Given the description of an element on the screen output the (x, y) to click on. 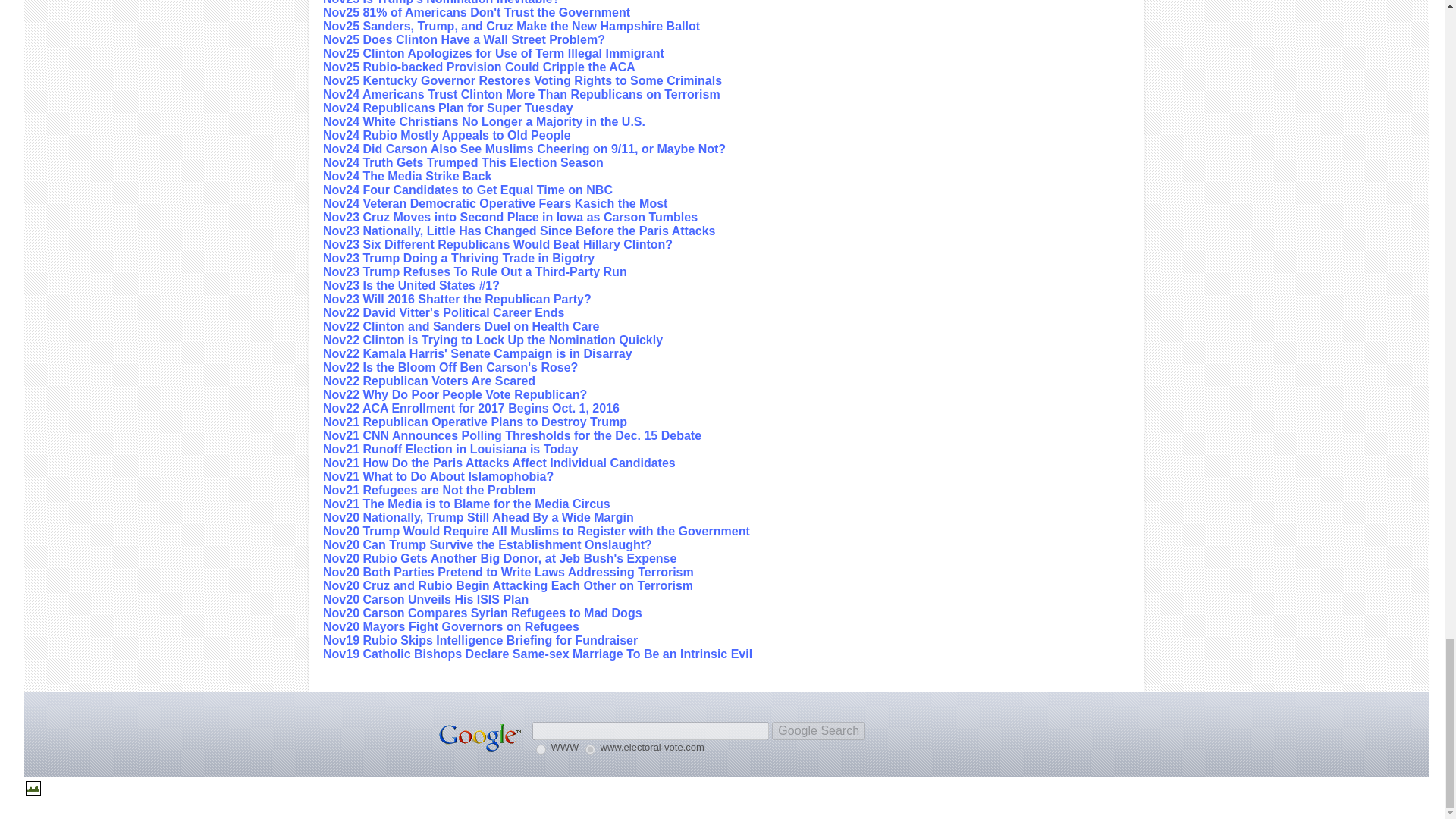
Google Search (817, 730)
www.electoral-vote.com (590, 749)
